Given the description of an element on the screen output the (x, y) to click on. 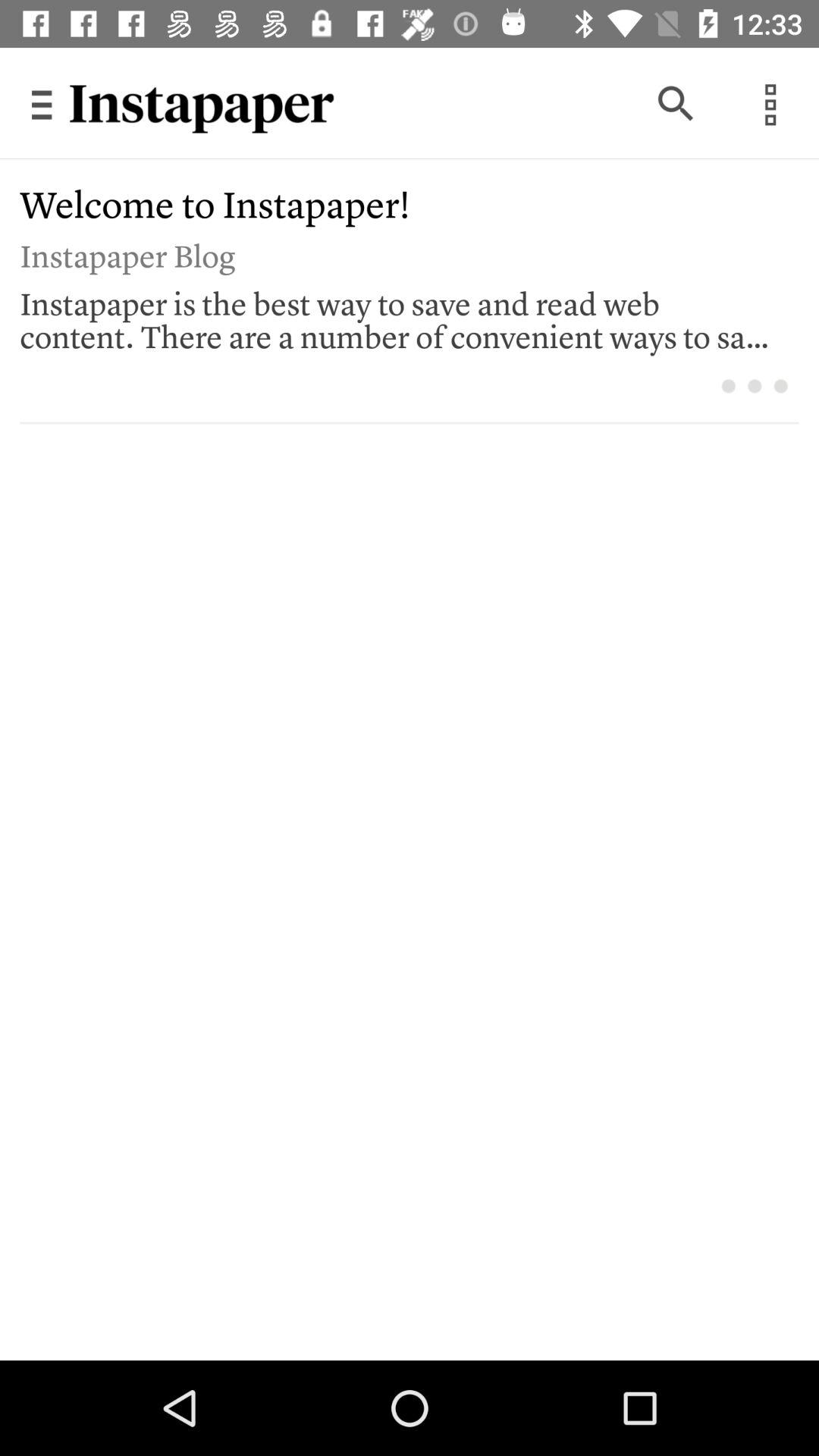
select the icon below the instapaper is the item (780, 386)
